Given the description of an element on the screen output the (x, y) to click on. 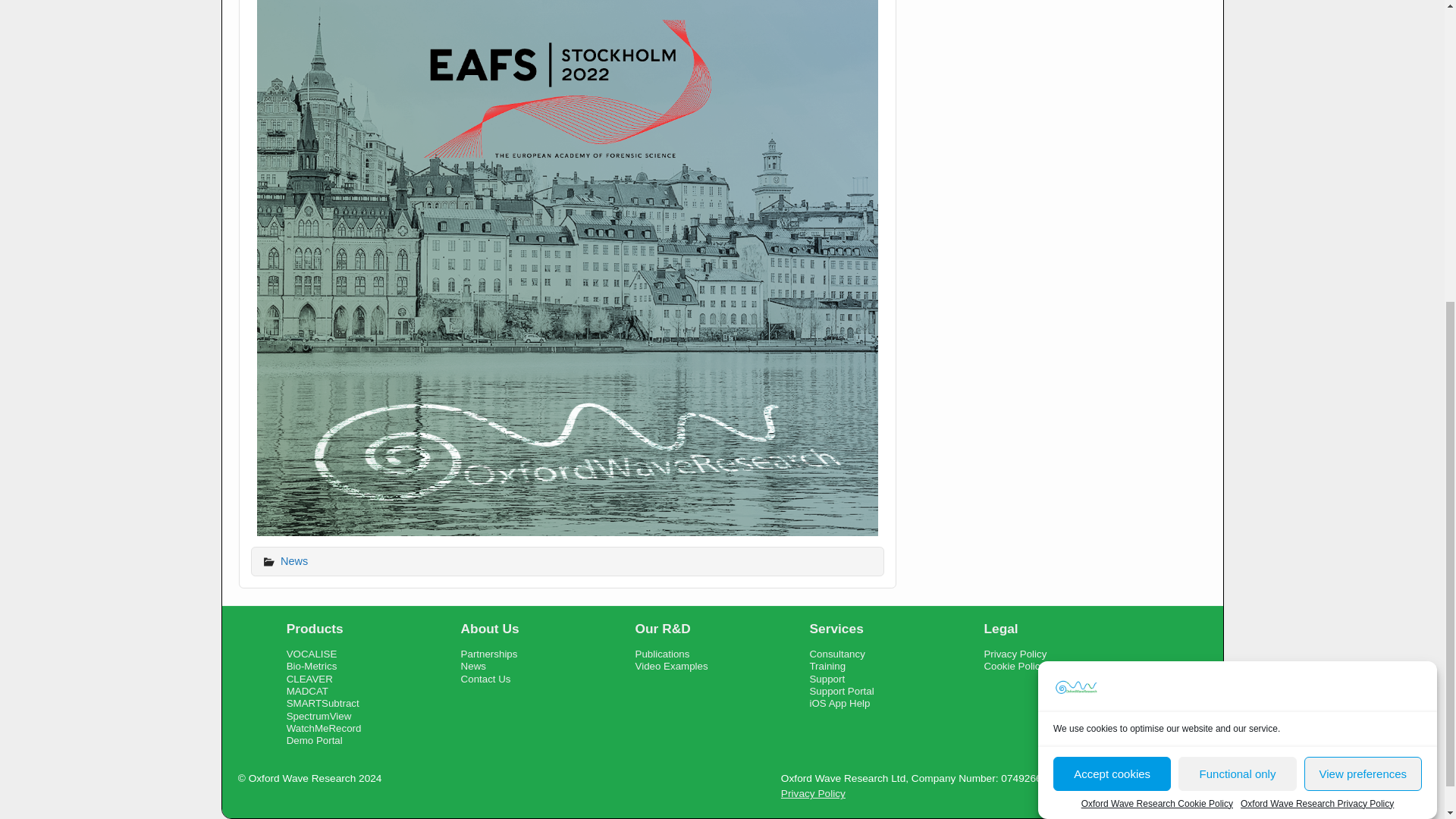
Accept cookies (1111, 356)
View preferences (1363, 339)
Oxford Wave Research Cookie Policy (1157, 342)
Functional only (1236, 350)
